Given the description of an element on the screen output the (x, y) to click on. 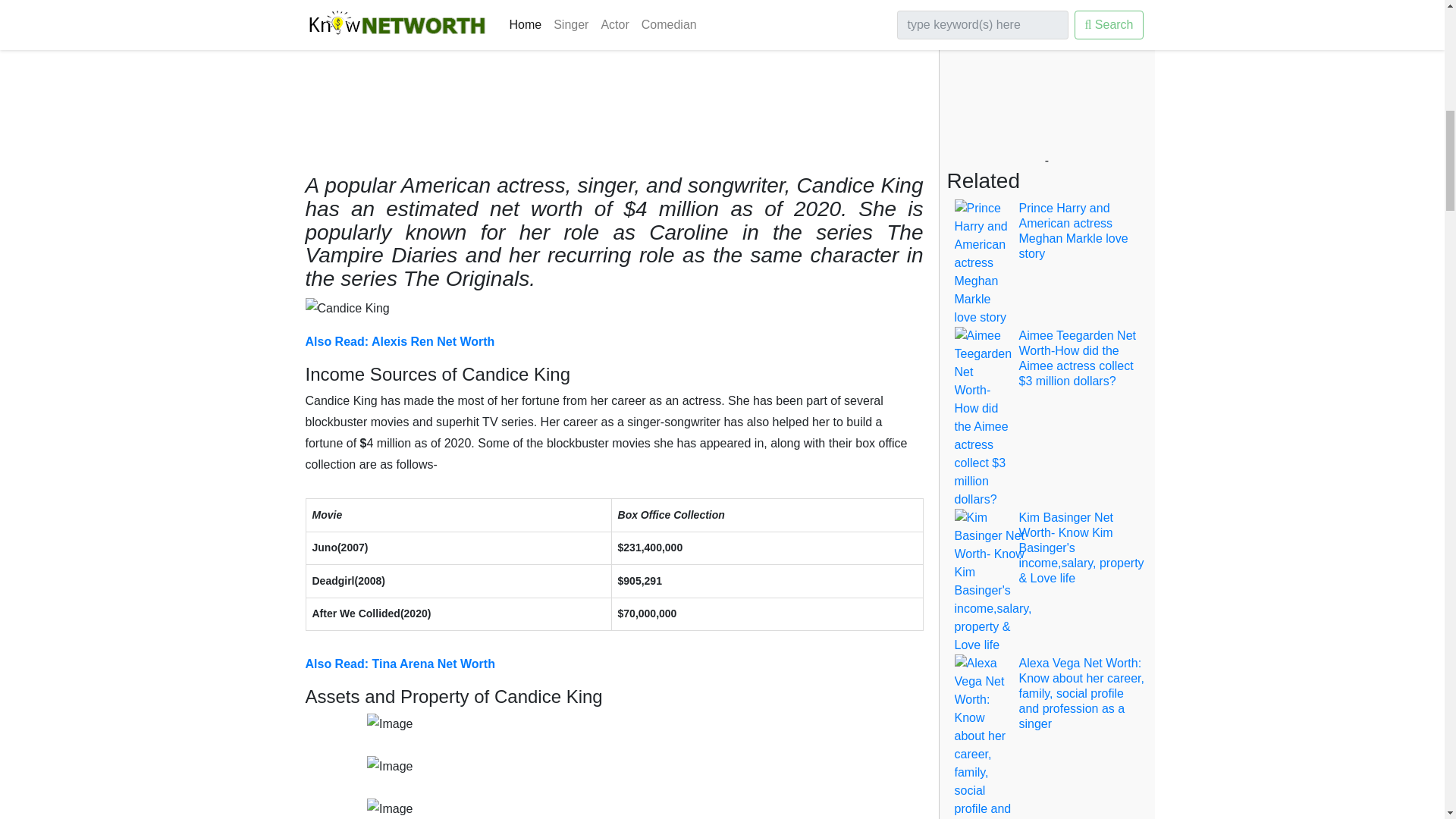
Also Read: Tina Arena Net Worth (399, 663)
Also Read: Alexis Ren Net Worth (399, 341)
Advertisement (613, 79)
